Given the description of an element on the screen output the (x, y) to click on. 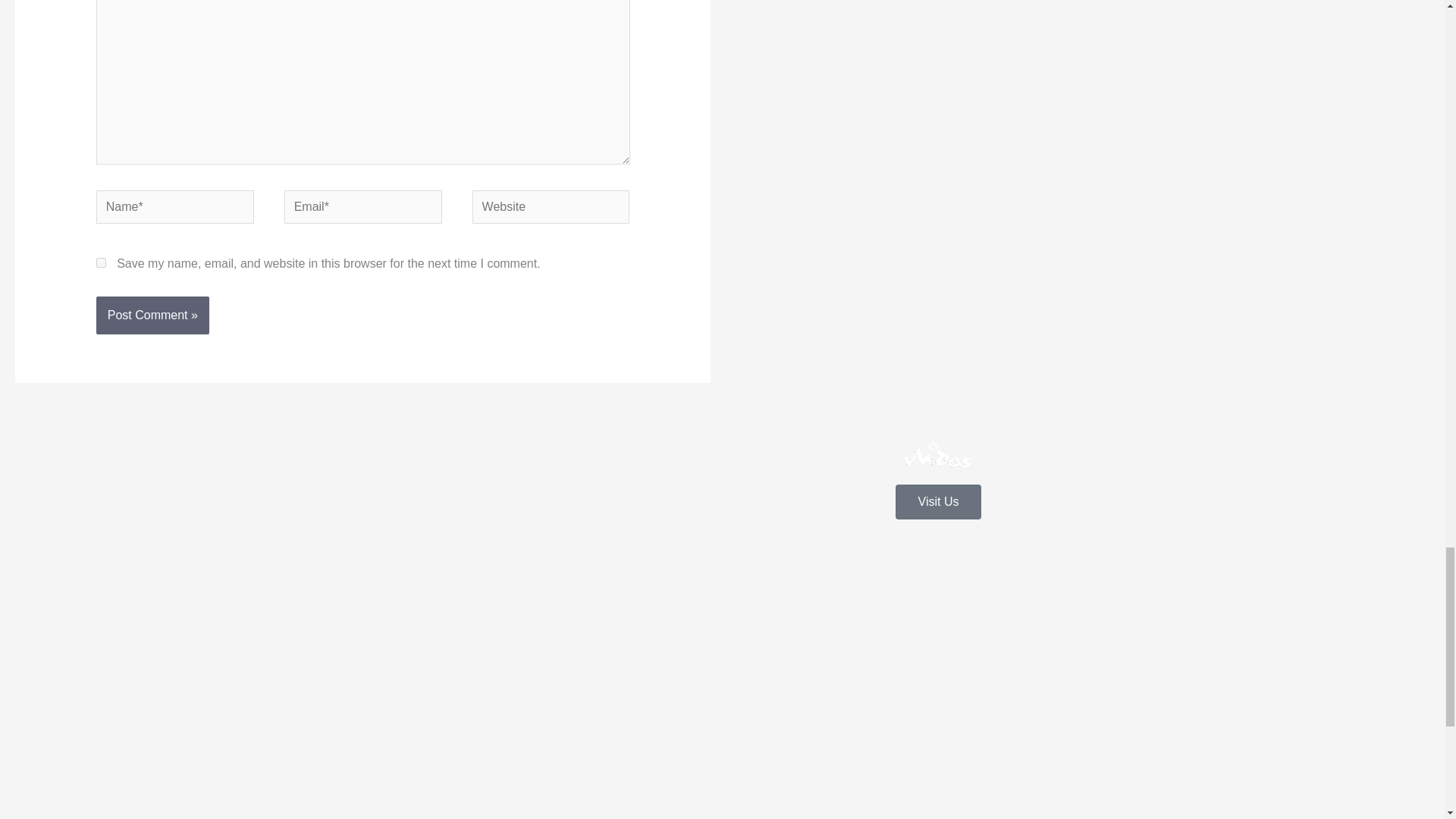
yes (101, 262)
